Given the description of an element on the screen output the (x, y) to click on. 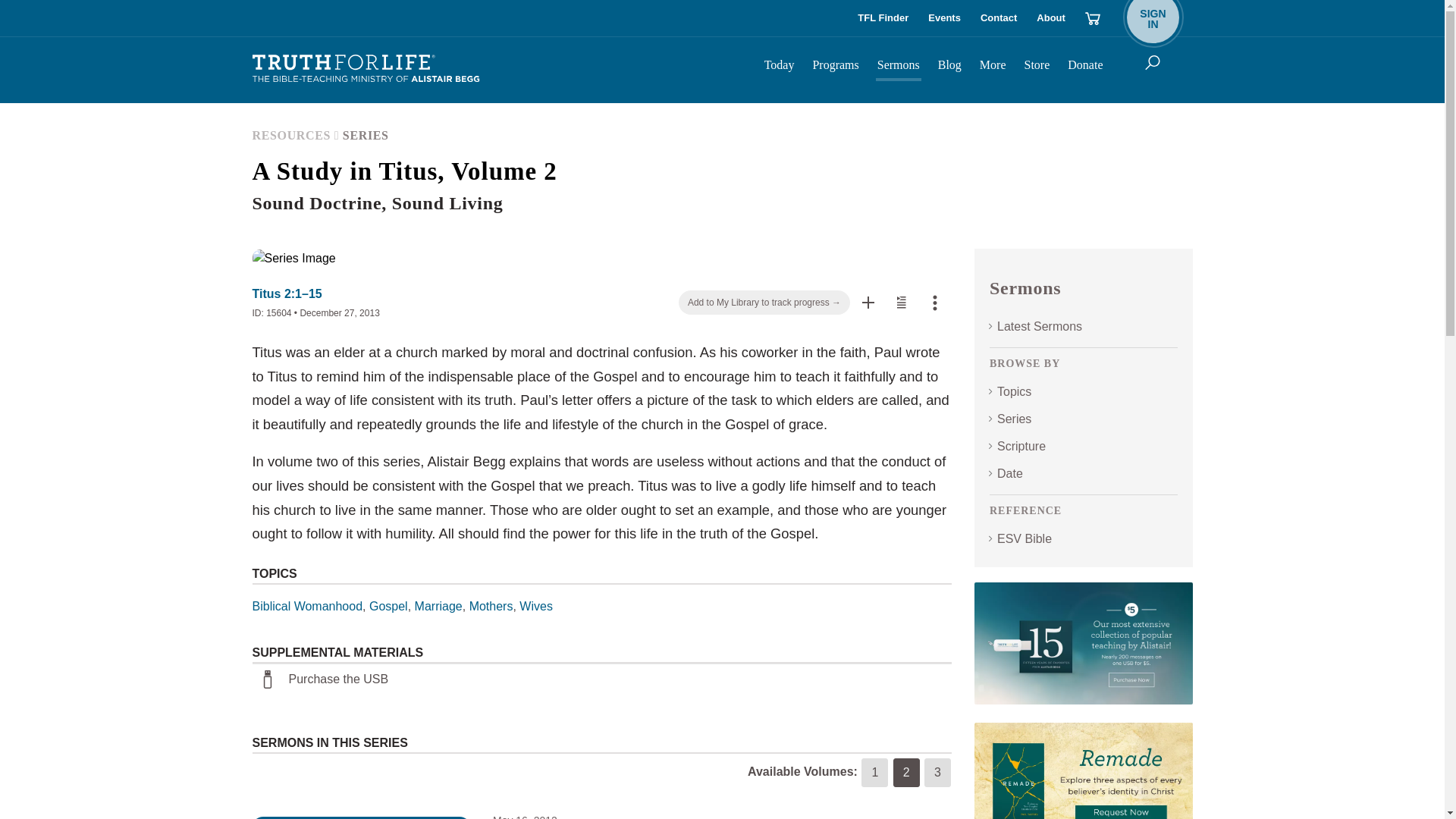
Contact (1152, 18)
Listen Queue (998, 18)
Add to My Library (901, 302)
Add to My Library (868, 302)
Today (868, 302)
TFL Finder (779, 66)
About (882, 18)
Add to Listen Queue (1050, 18)
More Options (901, 302)
